Given the description of an element on the screen output the (x, y) to click on. 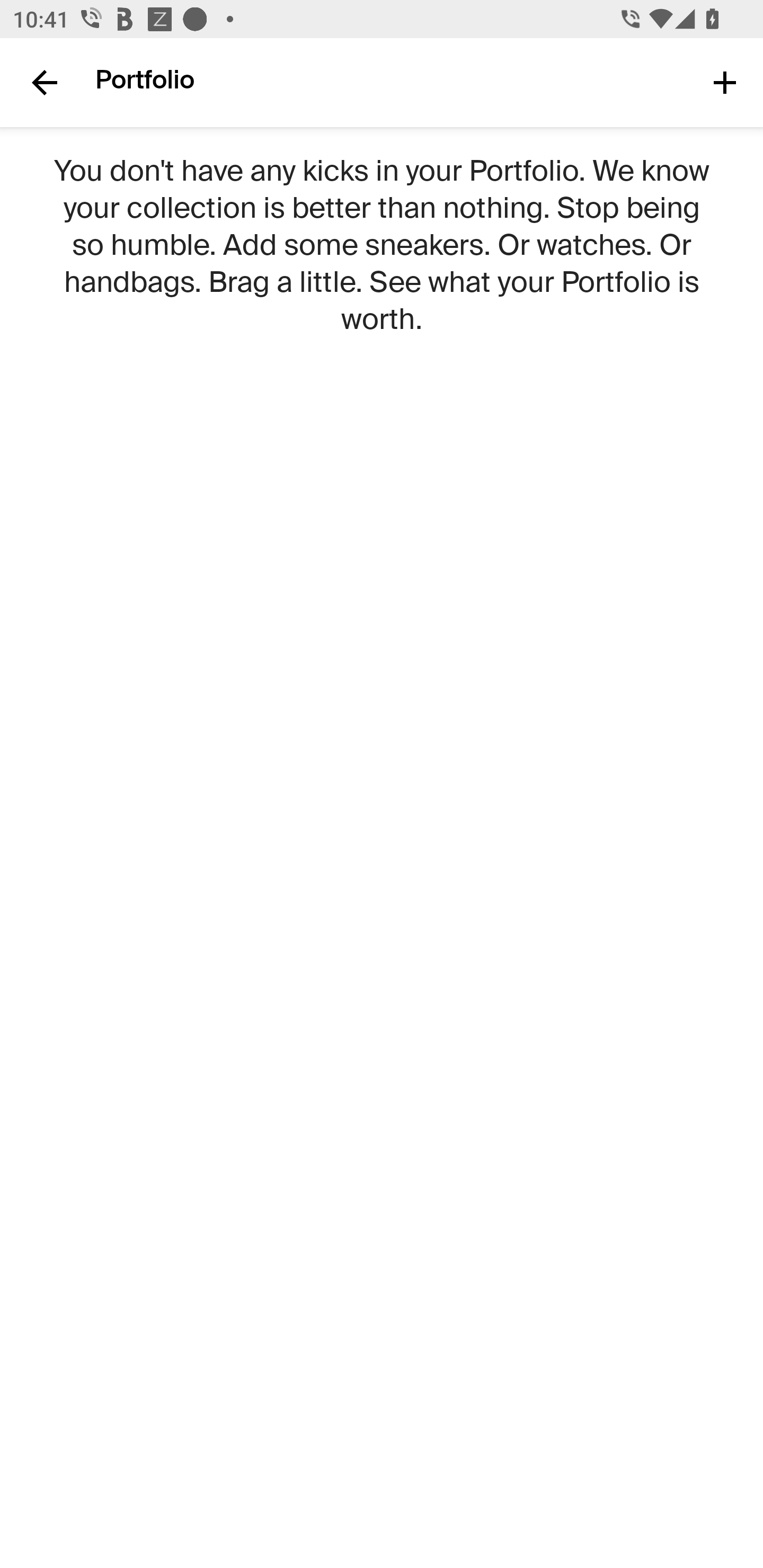
Navigate up (44, 82)
Add (724, 81)
